Given the description of an element on the screen output the (x, y) to click on. 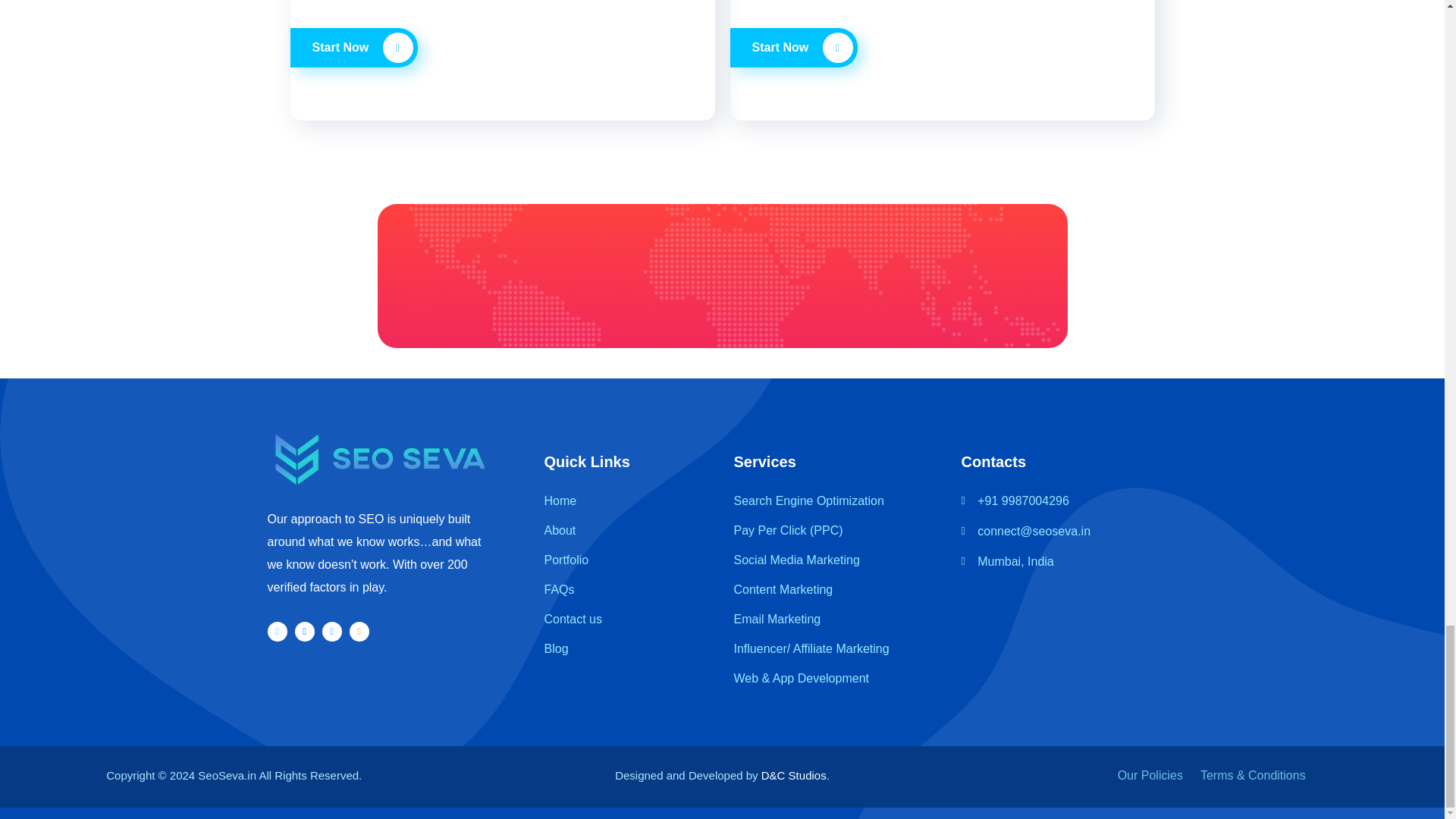
Start Now (352, 47)
Start Now (793, 47)
